Given the description of an element on the screen output the (x, y) to click on. 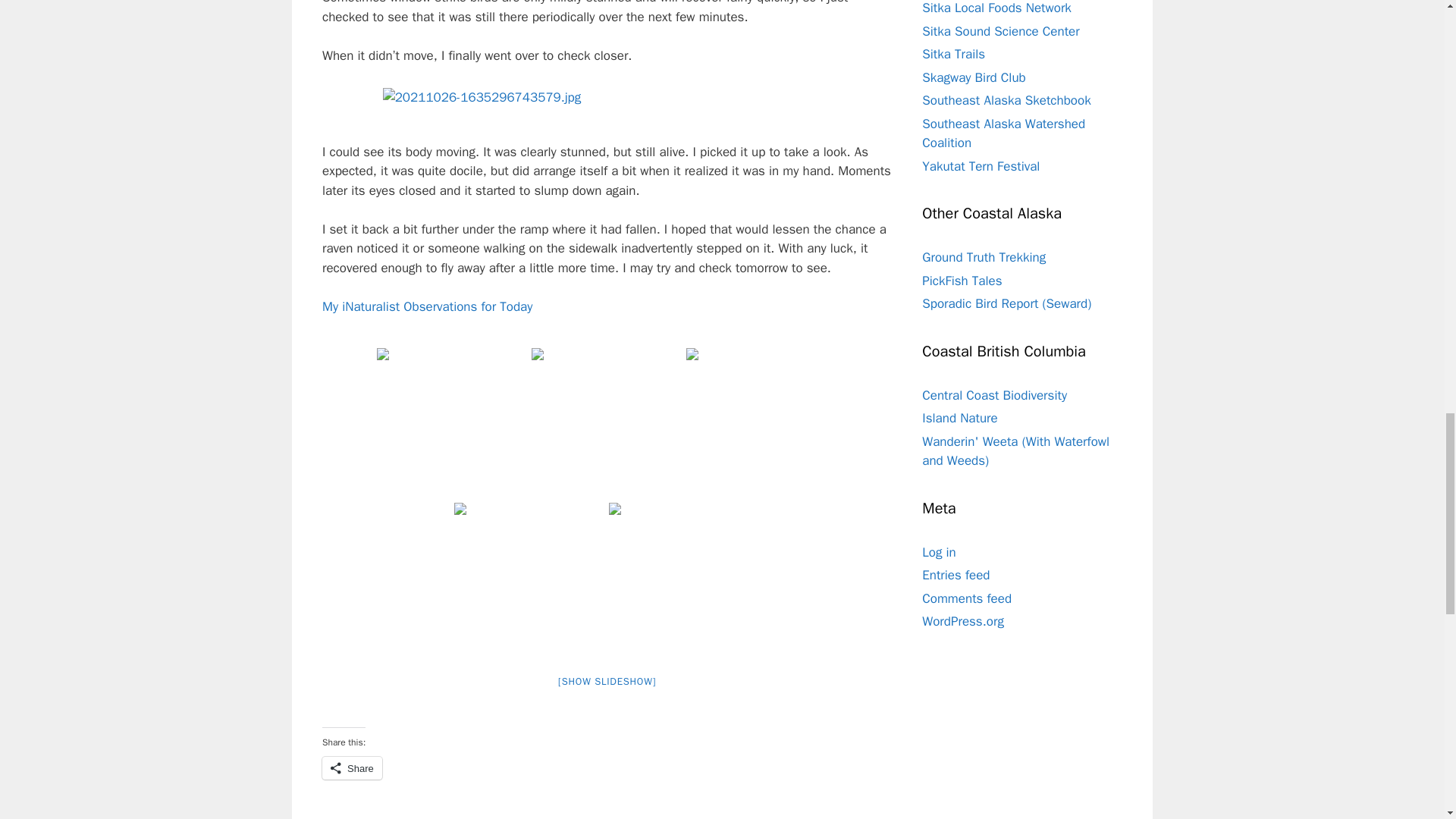
The stunned junco opened its eyes when I first picked it up (607, 97)
20211026-1635296743579.jpg (610, 97)
20211026-8S4A6693.jpg (606, 423)
Snow Goose resting at Kimsham Fields (761, 423)
Sunlight on Verstovia (452, 423)
My iNaturalist Observations for Today (426, 306)
